Given the description of an element on the screen output the (x, y) to click on. 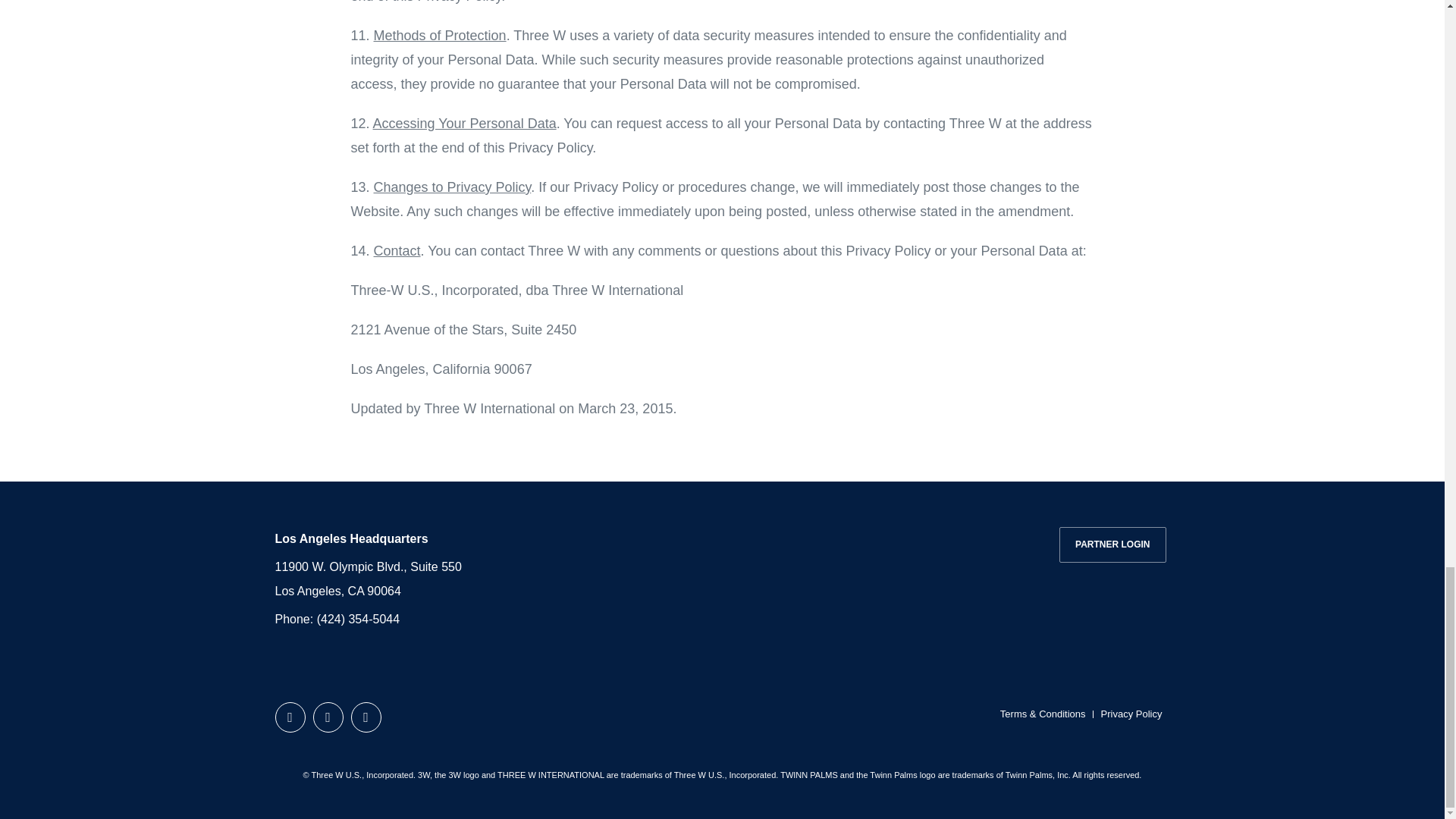
Privacy Policy (1130, 713)
Powered by Finalsite opens in a new window (721, 712)
PARTNER LOGIN (1112, 544)
Powered by Finalsite (721, 712)
